Given the description of an element on the screen output the (x, y) to click on. 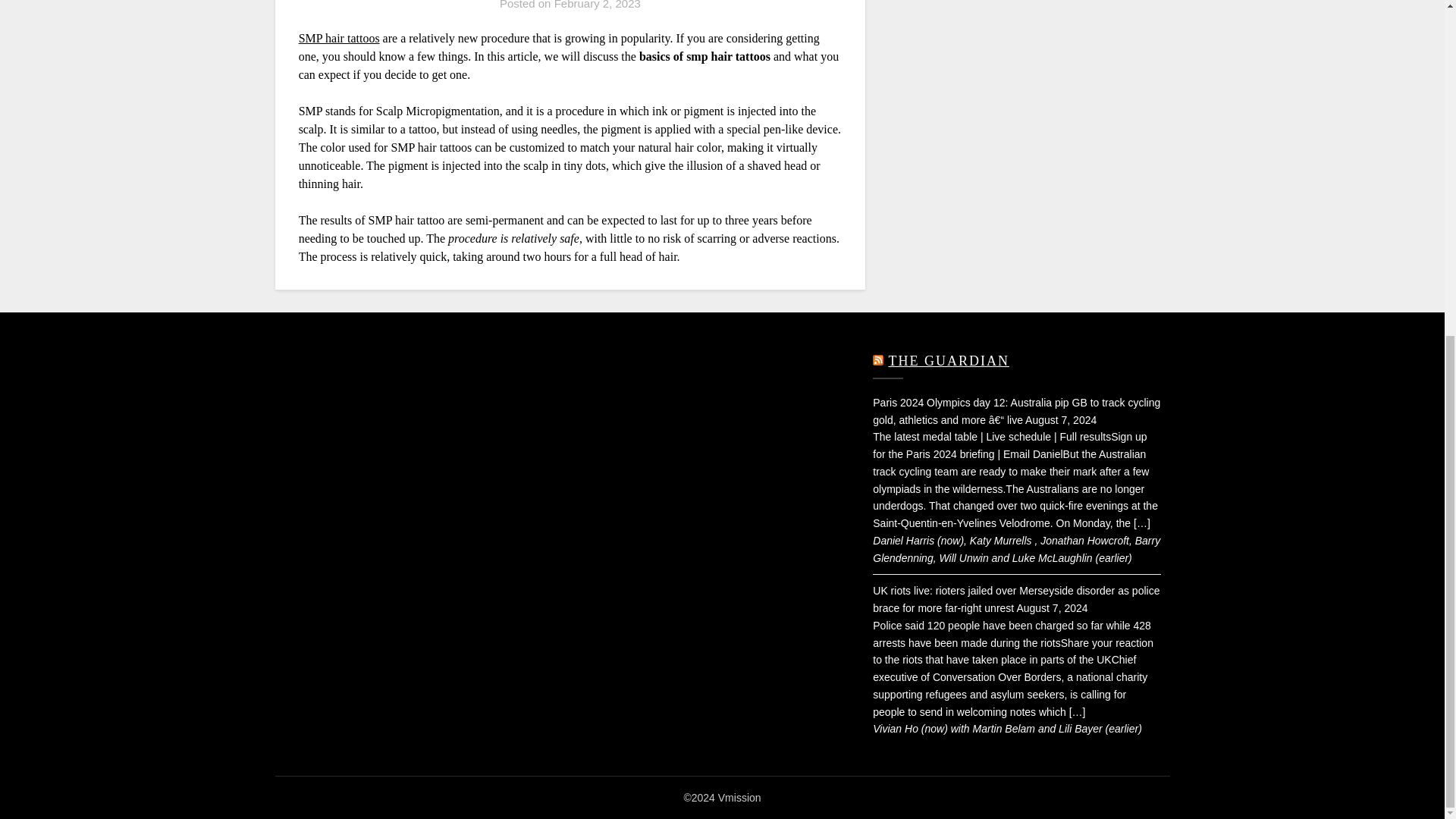
SMP hair tattoos (339, 37)
February 2, 2023 (597, 4)
THE GUARDIAN (948, 360)
